Given the description of an element on the screen output the (x, y) to click on. 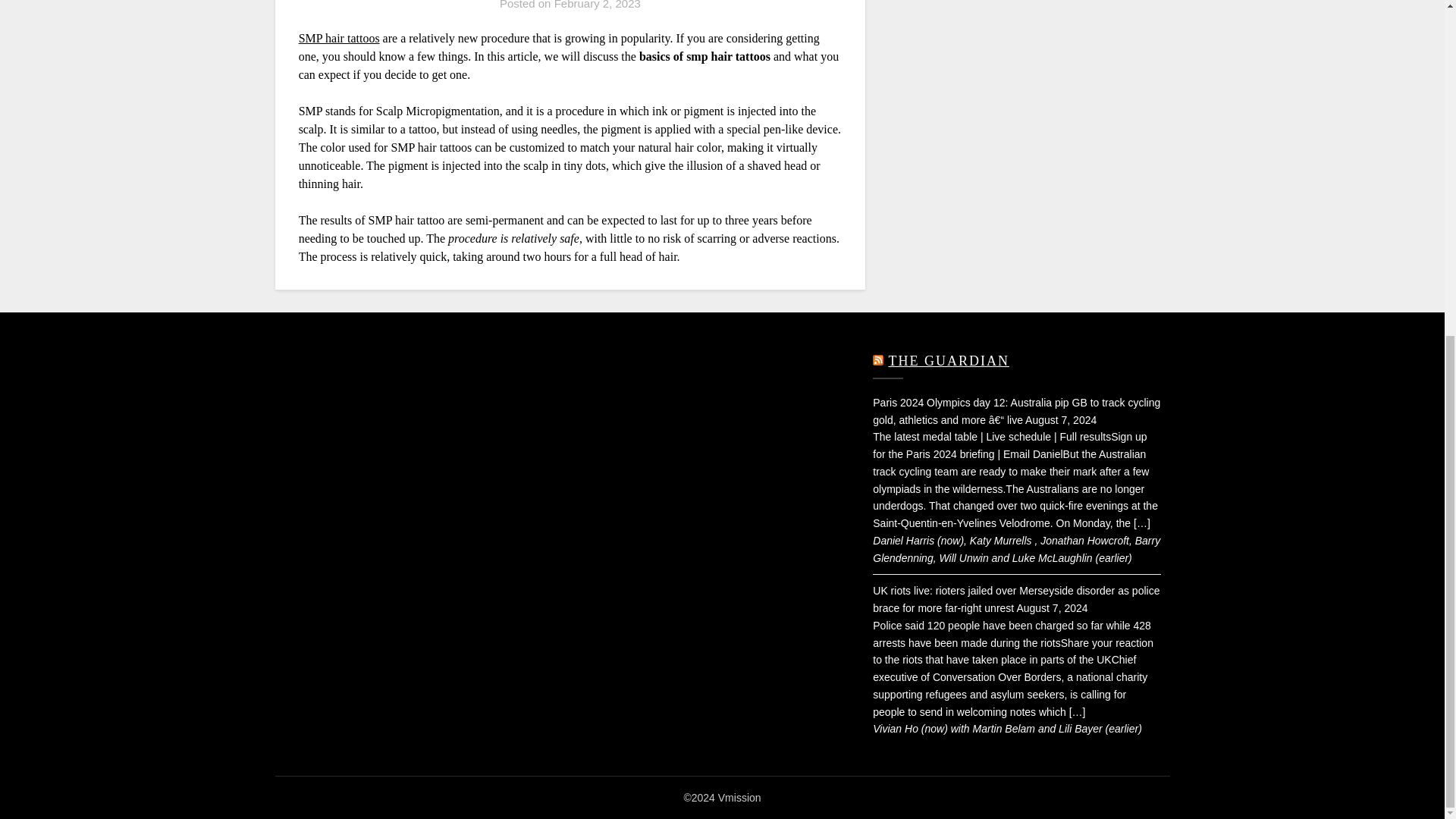
SMP hair tattoos (339, 37)
February 2, 2023 (597, 4)
THE GUARDIAN (948, 360)
